Given the description of an element on the screen output the (x, y) to click on. 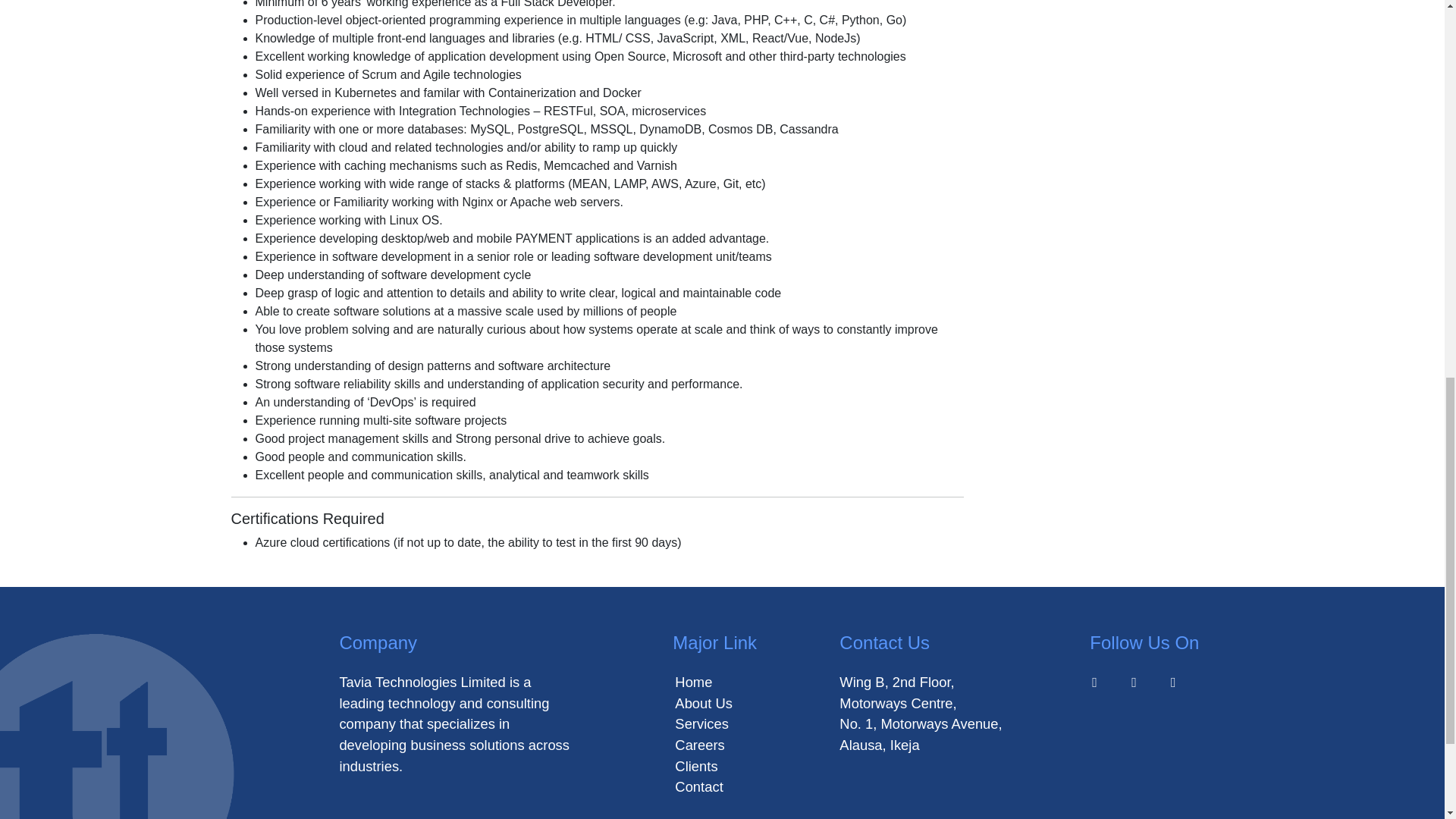
About Us (703, 703)
Clients (696, 765)
Home (693, 682)
Contact (698, 786)
Services (702, 723)
Careers (699, 744)
